Given the description of an element on the screen output the (x, y) to click on. 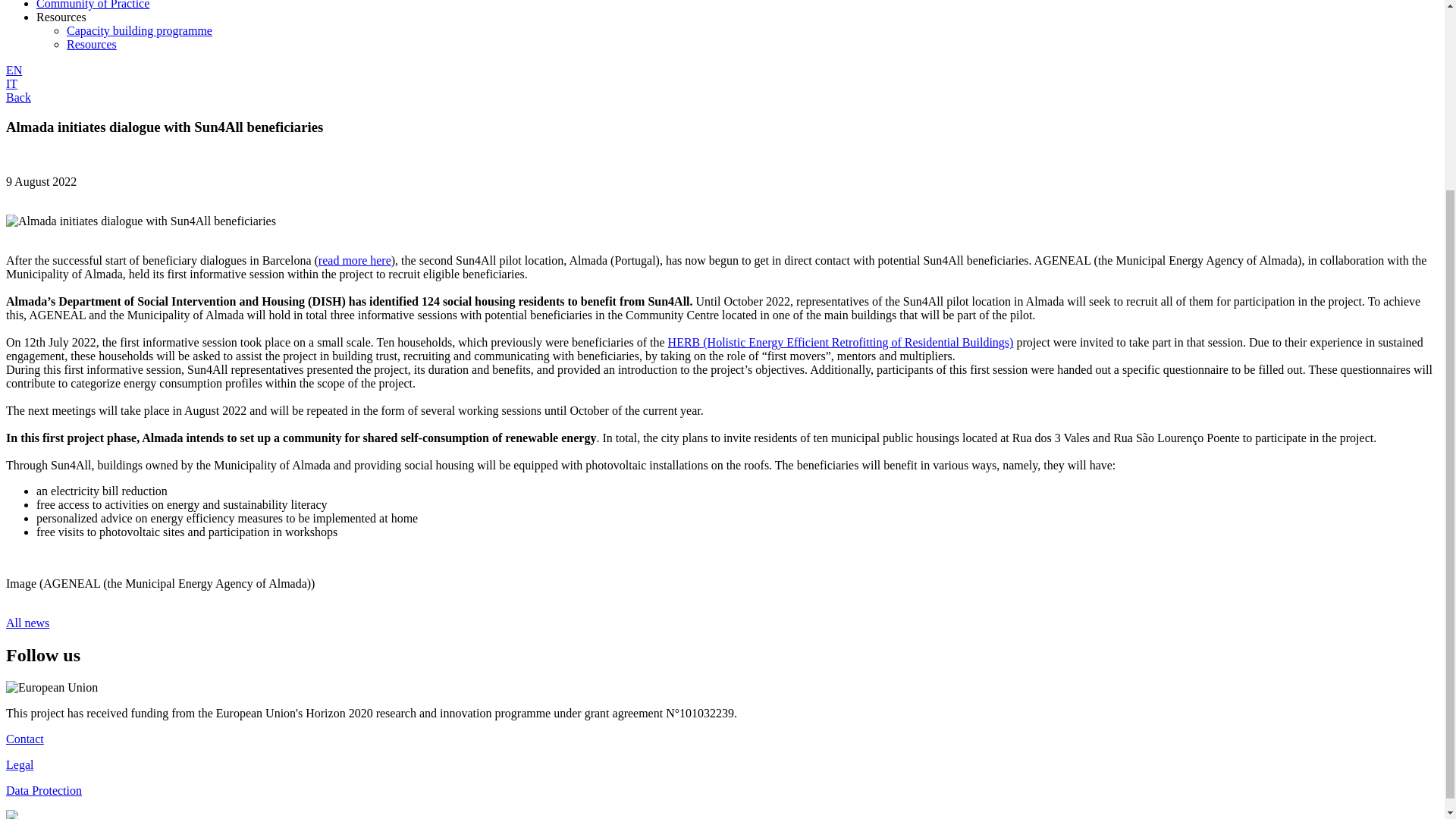
Data Protection (43, 789)
Capacity building programme (139, 30)
Community of Practice (92, 4)
Legal (19, 764)
read more here (354, 259)
EN (13, 69)
Back (17, 97)
All news (27, 622)
Contact (24, 738)
Resources (91, 43)
